Given the description of an element on the screen output the (x, y) to click on. 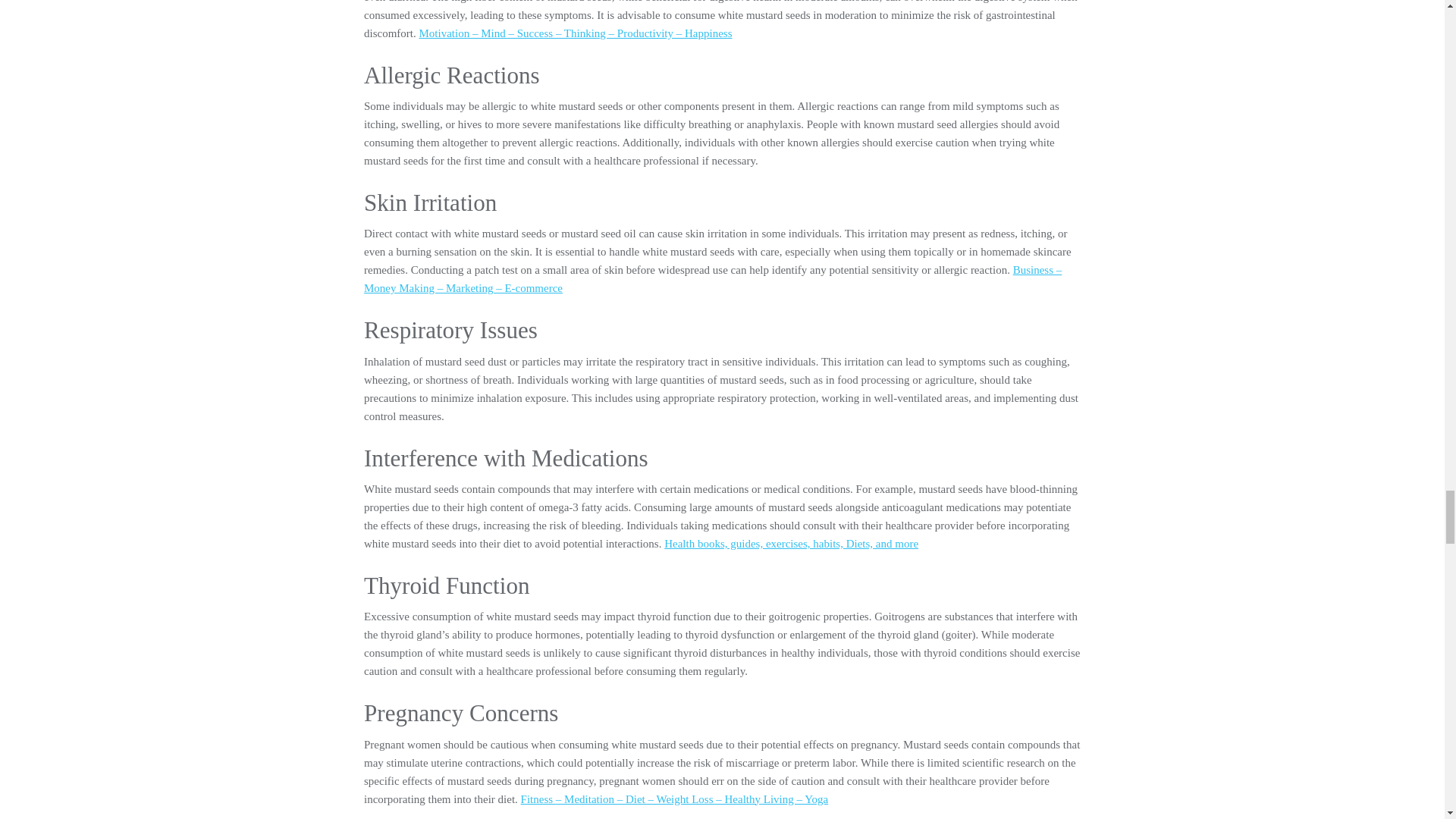
Health books, guides, exercises, habits, Diets, and more (790, 543)
